Given the description of an element on the screen output the (x, y) to click on. 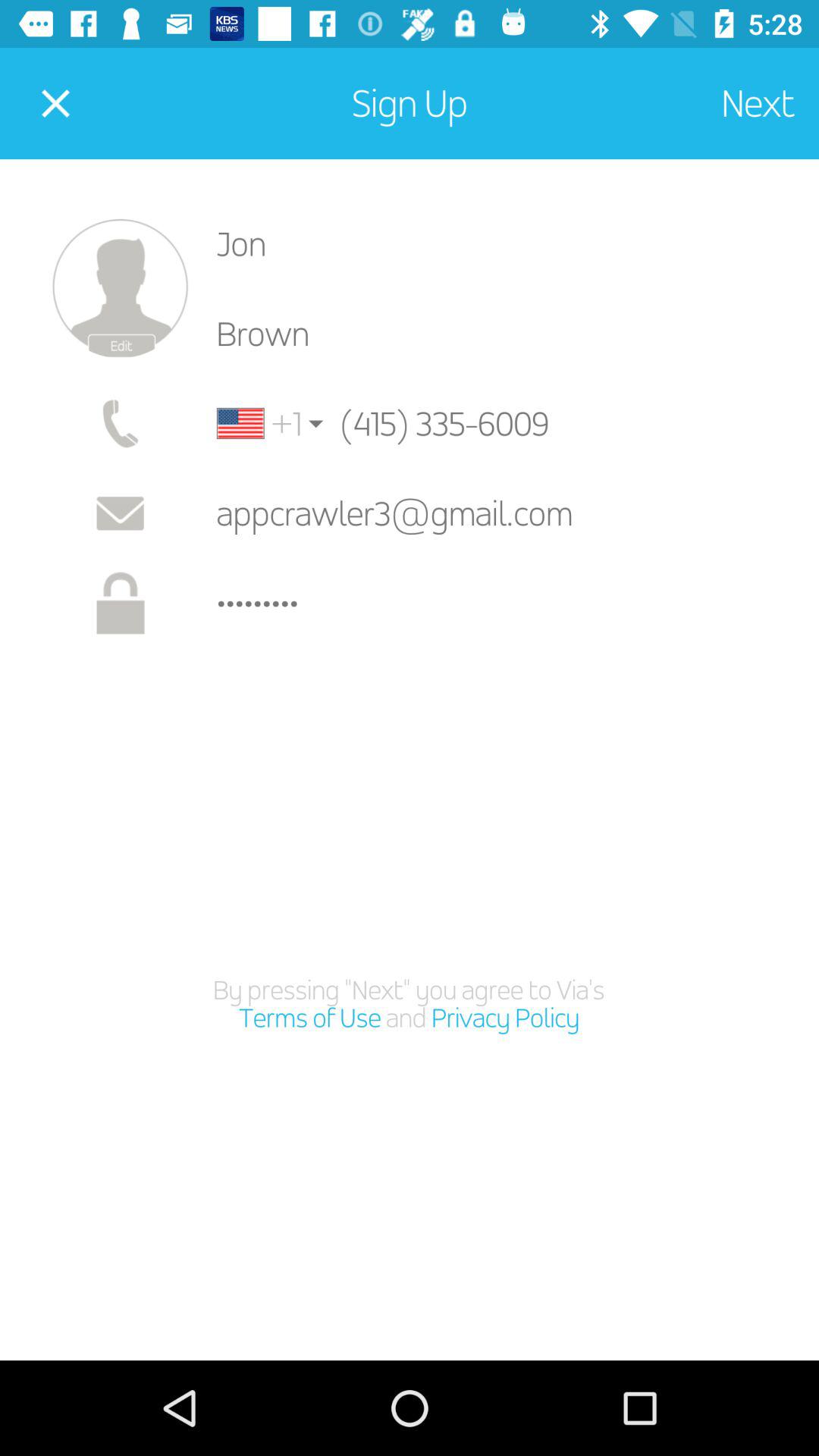
click icon to the left of sign up item (55, 103)
